Given the description of an element on the screen output the (x, y) to click on. 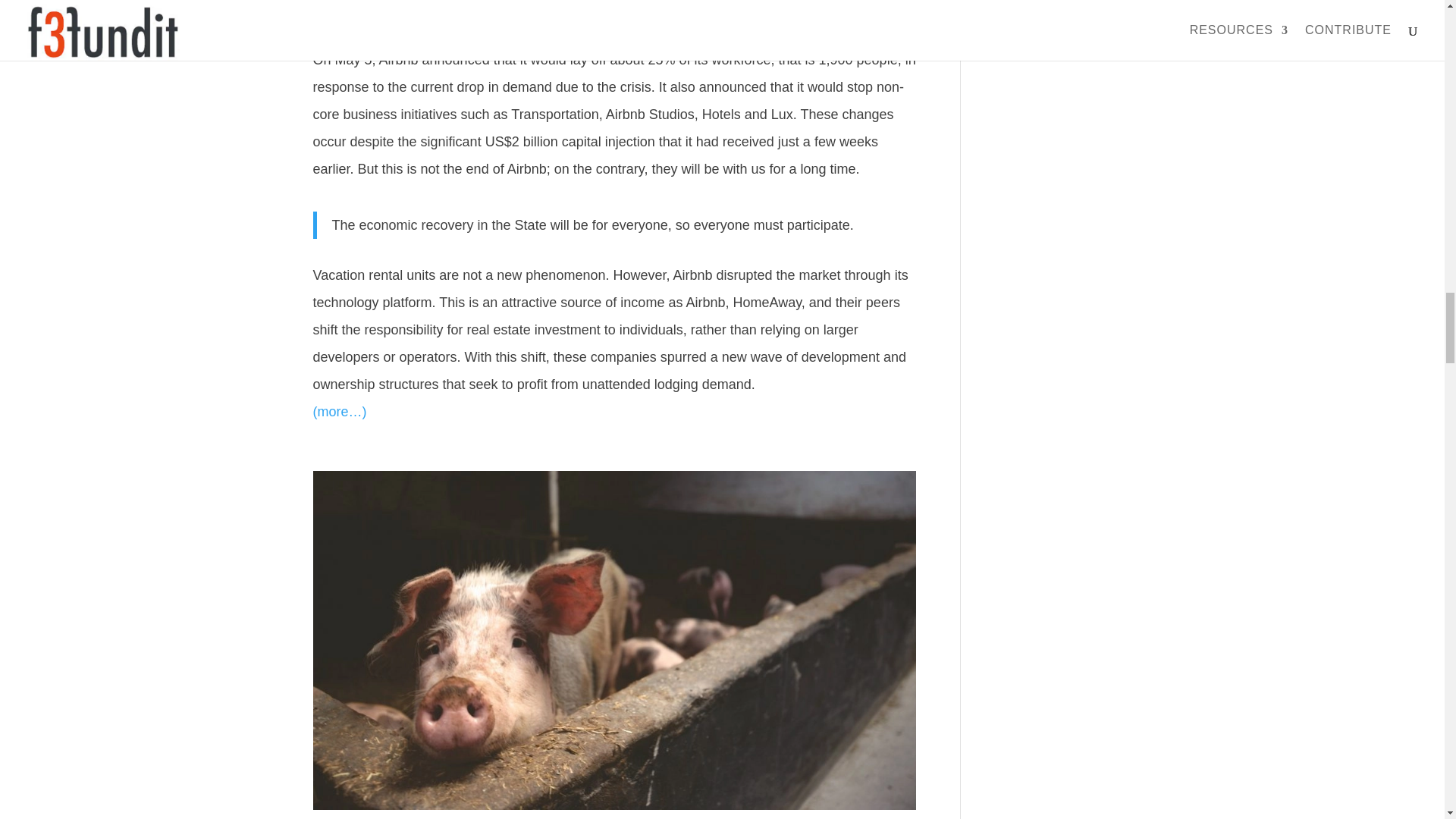
PropTech (513, 15)
Business (458, 15)
Posts by Jace (340, 15)
Jace (340, 15)
